Given the description of an element on the screen output the (x, y) to click on. 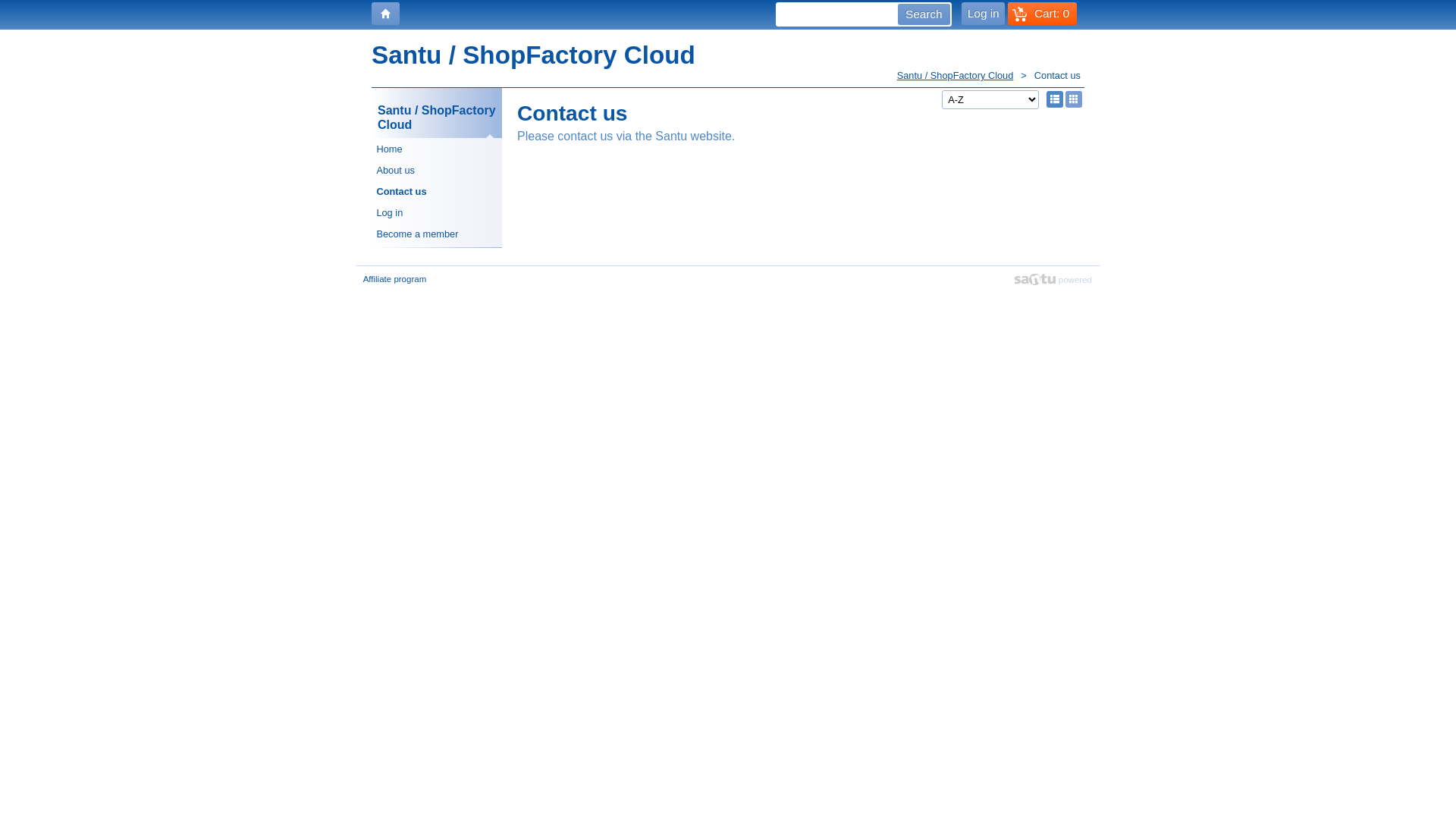
Become a member Element type: text (436, 233)
Santu / ShopFactory Cloud Element type: text (436, 112)
Log in Element type: text (982, 13)
Home Element type: text (436, 148)
Cart: 0 Element type: text (1041, 13)
Santu / ShopFactory Cloud Element type: text (965, 75)
Affiliate program Element type: text (394, 279)
Log in Element type: text (436, 212)
Search Element type: hover (923, 14)
powered Element type: text (1053, 279)
Search Element type: text (923, 14)
About us Element type: text (436, 169)
Contact us Element type: text (436, 190)
